Given the description of an element on the screen output the (x, y) to click on. 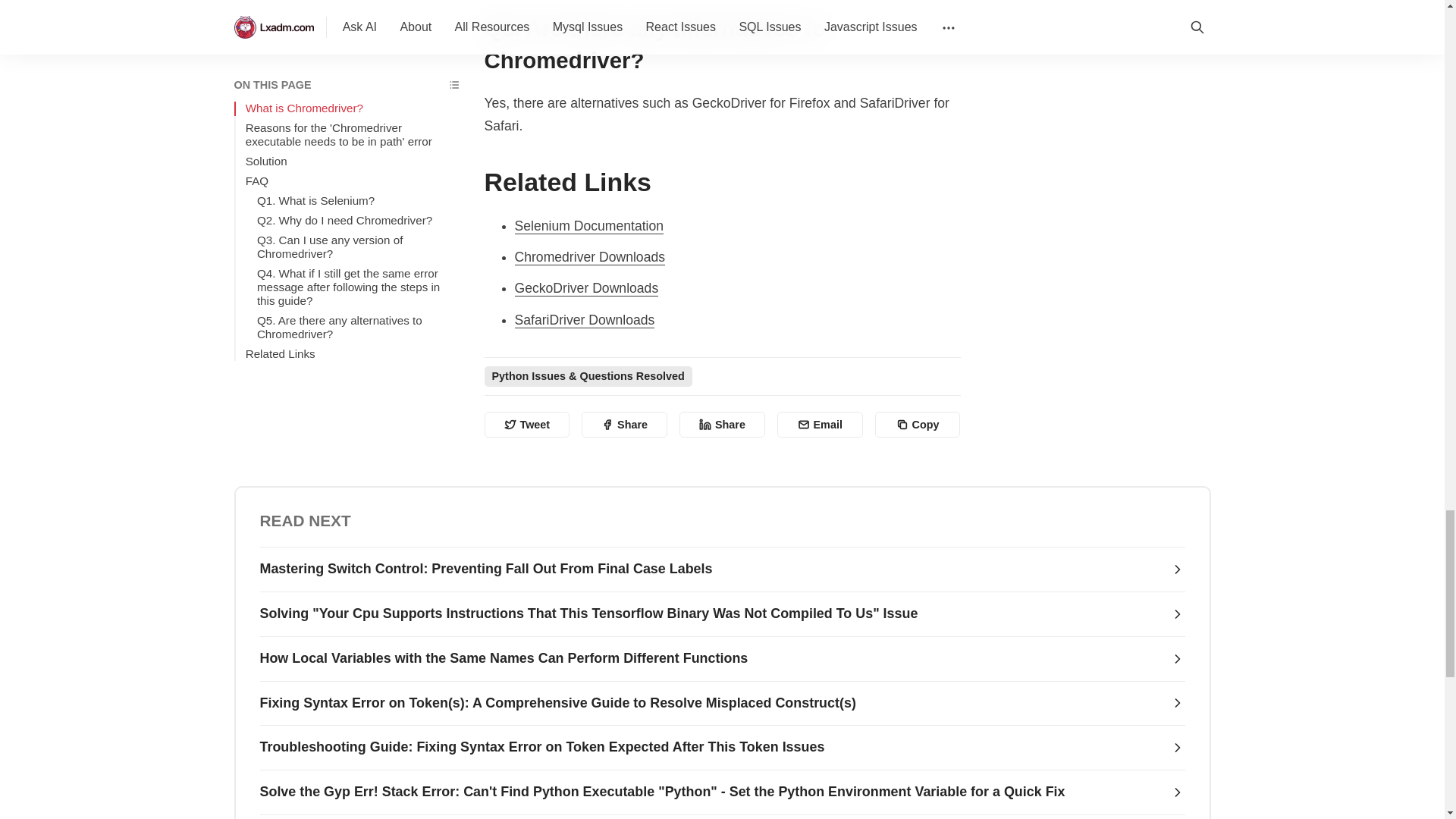
Share on Twitter (526, 424)
Share on Linkedin (722, 424)
Share by email (820, 424)
Copy to clipboard (917, 424)
Share on Facebook (623, 424)
